Given the description of an element on the screen output the (x, y) to click on. 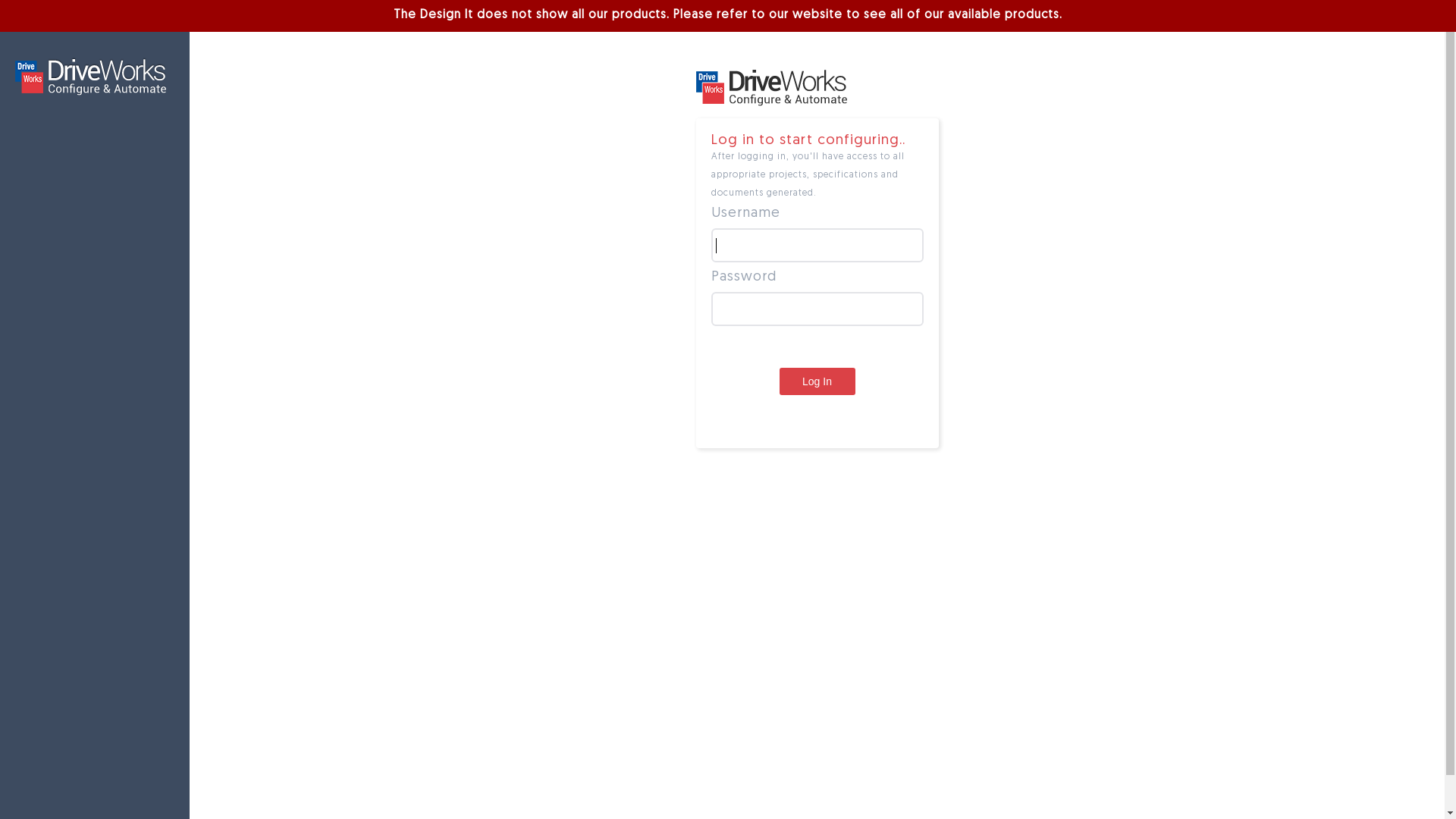
Log In Element type: text (817, 381)
